Given the description of an element on the screen output the (x, y) to click on. 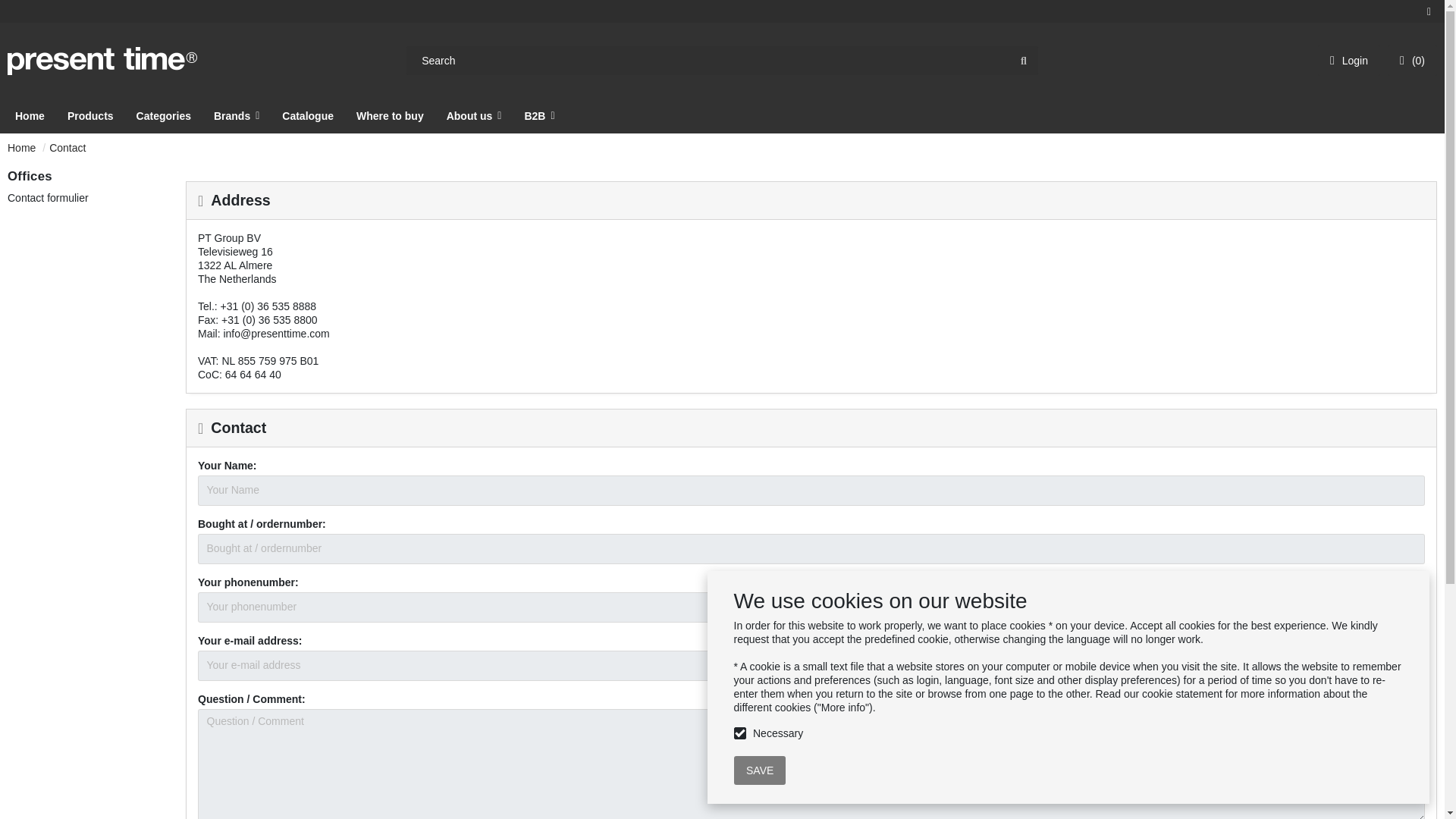
B2B (539, 115)
Products (89, 115)
Brands (236, 115)
Categories (163, 115)
Catalogue (307, 115)
Where to buy (389, 115)
Home (29, 115)
Save (759, 769)
Top logo (101, 60)
About us (474, 115)
Login (1348, 60)
Save (759, 769)
